Given the description of an element on the screen output the (x, y) to click on. 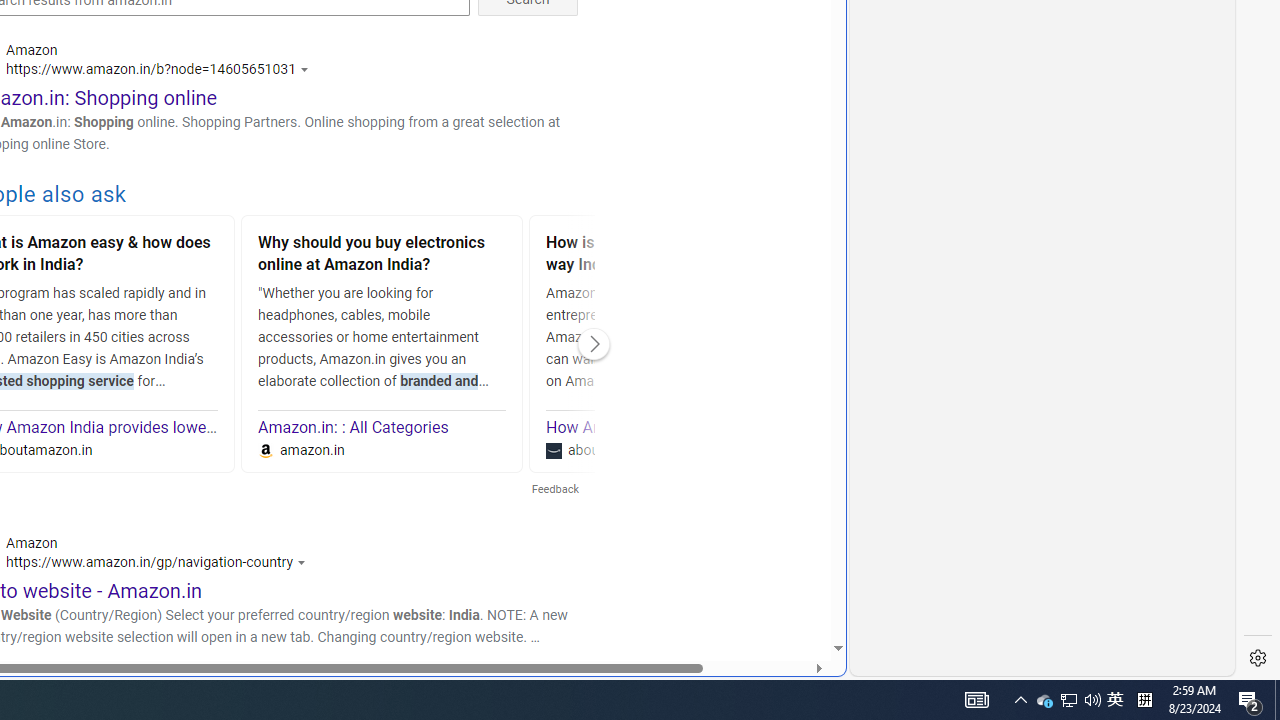
Why should you buy electronics online at Amazon India? (381, 255)
Amazon.in: : All Categories (353, 427)
AutomationID: mfa_root (762, 588)
Search more (792, 588)
How is Amazon easy changing the way India buys? (669, 255)
